Given the description of an element on the screen output the (x, y) to click on. 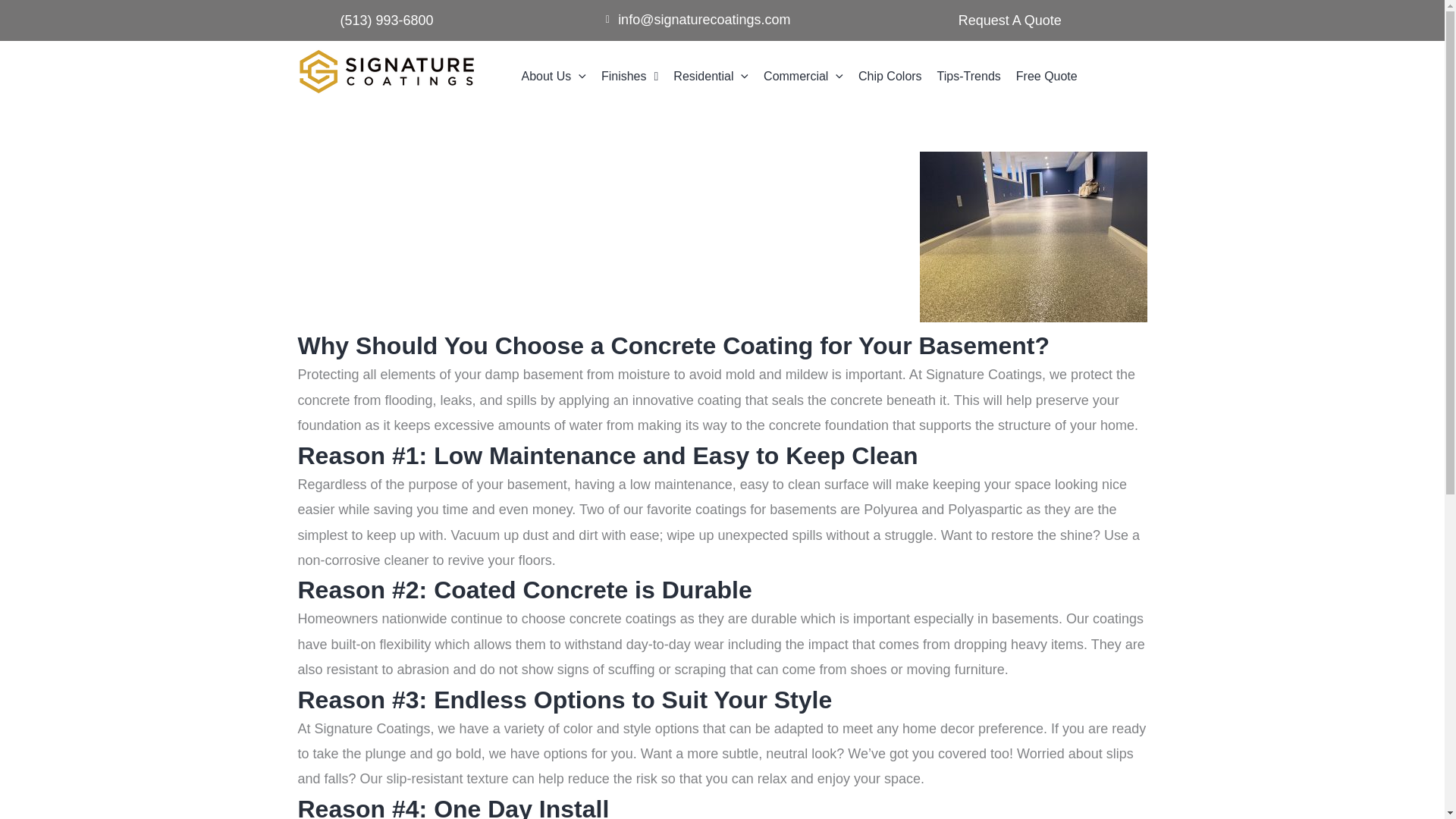
Residential (710, 76)
About Us (553, 76)
Request A Quote (1009, 20)
Tips-Trends (969, 76)
Chip Colors (890, 76)
Free Quote (1046, 76)
Finishes (629, 76)
Commercial (802, 76)
